Given the description of an element on the screen output the (x, y) to click on. 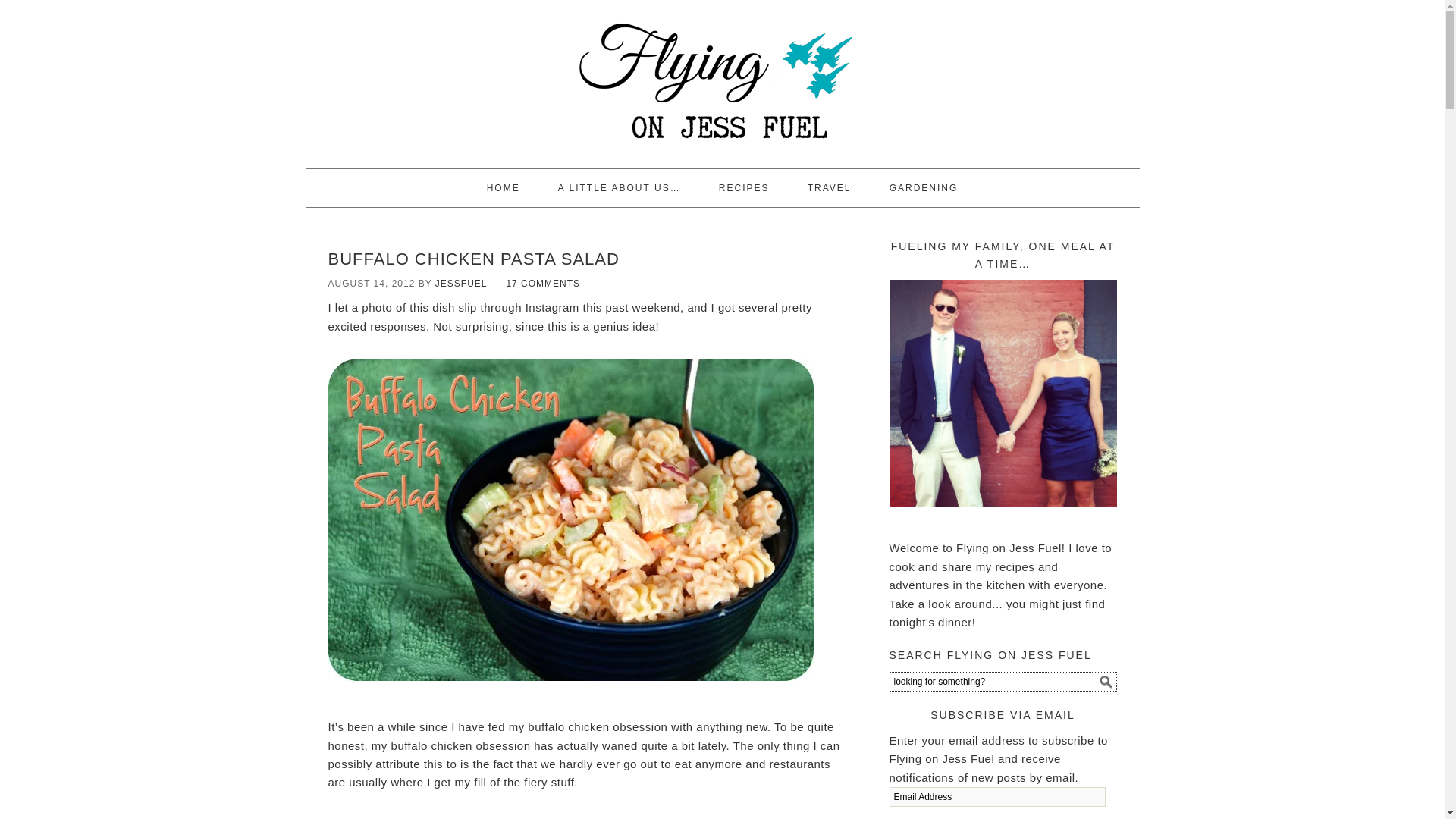
HOME (503, 187)
17 COMMENTS (542, 283)
FLYING ON JESS FUEL (721, 77)
GARDENING (923, 187)
RECIPES (743, 187)
JESSFUEL (460, 283)
TRAVEL (828, 187)
